Given the description of an element on the screen output the (x, y) to click on. 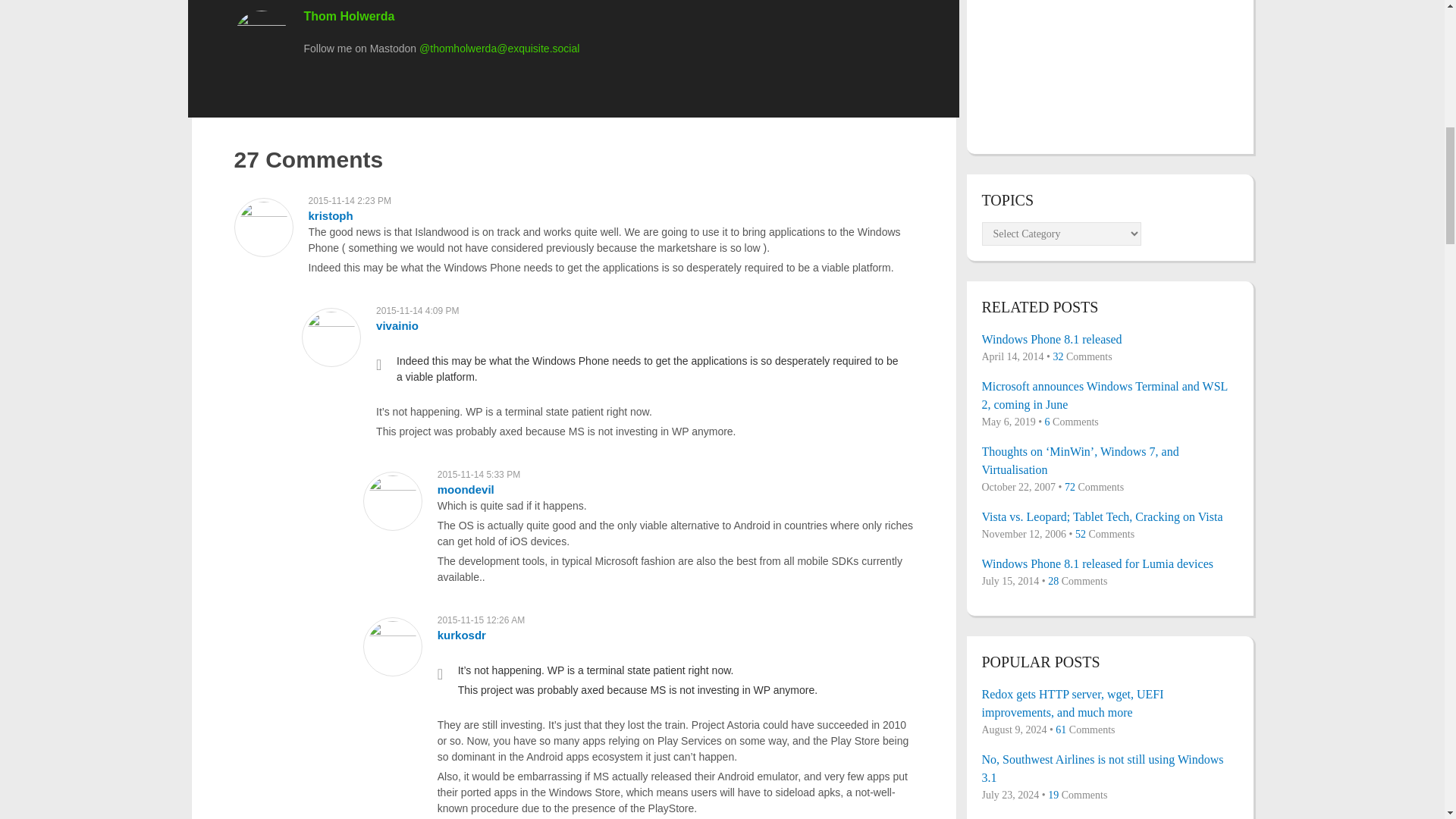
kristoph (329, 215)
moondevil (466, 489)
Thom Holwerda (348, 15)
kurkosdr (462, 634)
vivainio (397, 325)
